Given the description of an element on the screen output the (x, y) to click on. 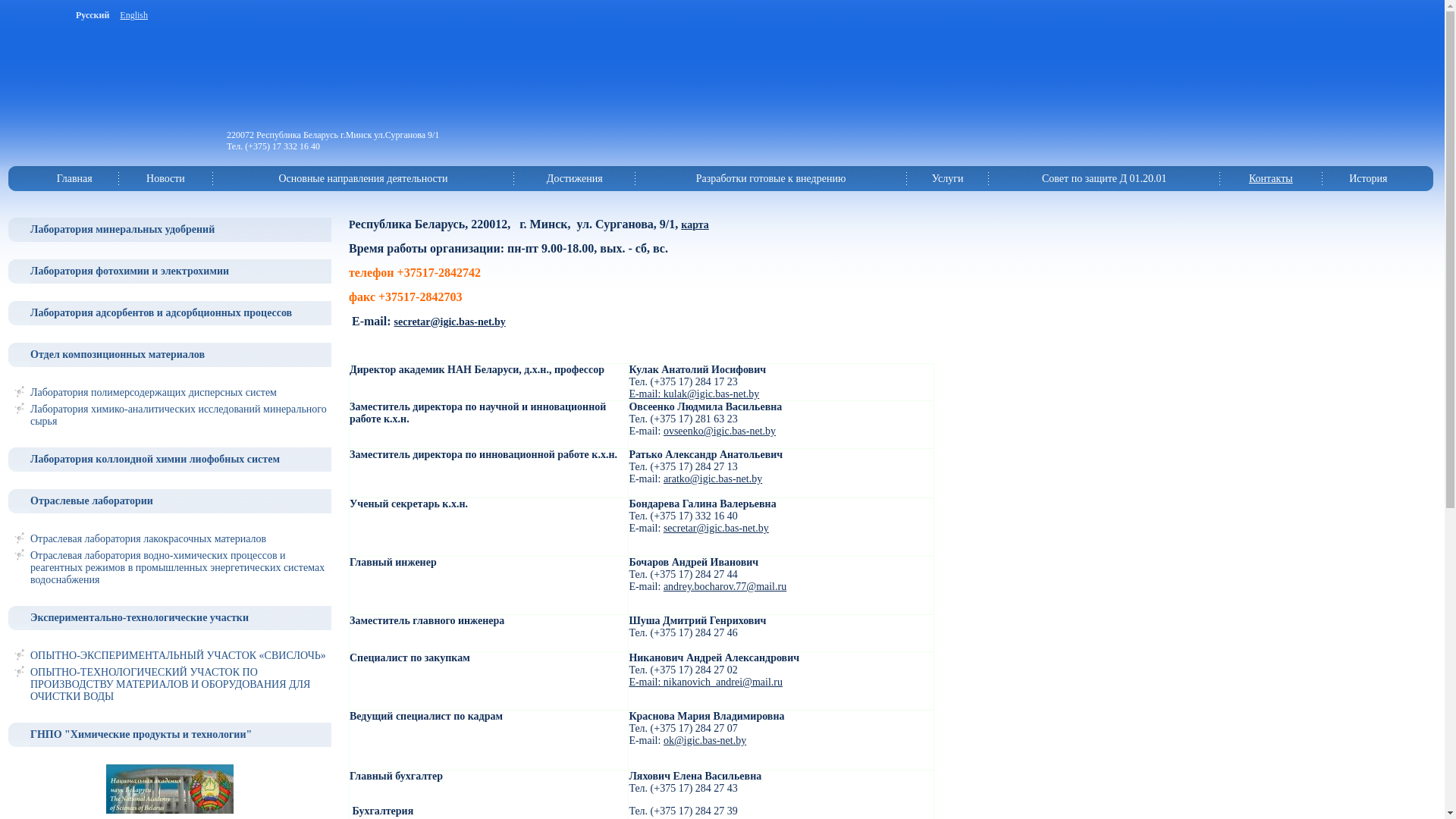
secretar@igic.bas-net.by Element type: text (715, 527)
andrey.bocharov.77@mail.ru Element type: text (724, 586)
ovseenko@igic.bas-net.by Element type: text (719, 430)
English Element type: text (133, 14)
E-mail: kulak@igic.bas-net.by Element type: text (693, 393)
ok@igic.bas-net.by Element type: text (704, 740)
aratko@igic.bas-net.by Element type: text (712, 478)
E-mail: nikanovich_andrei@mail.ru Element type: text (705, 681)
secretar@igic.bas-net.by Element type: text (449, 321)
